Given the description of an element on the screen output the (x, y) to click on. 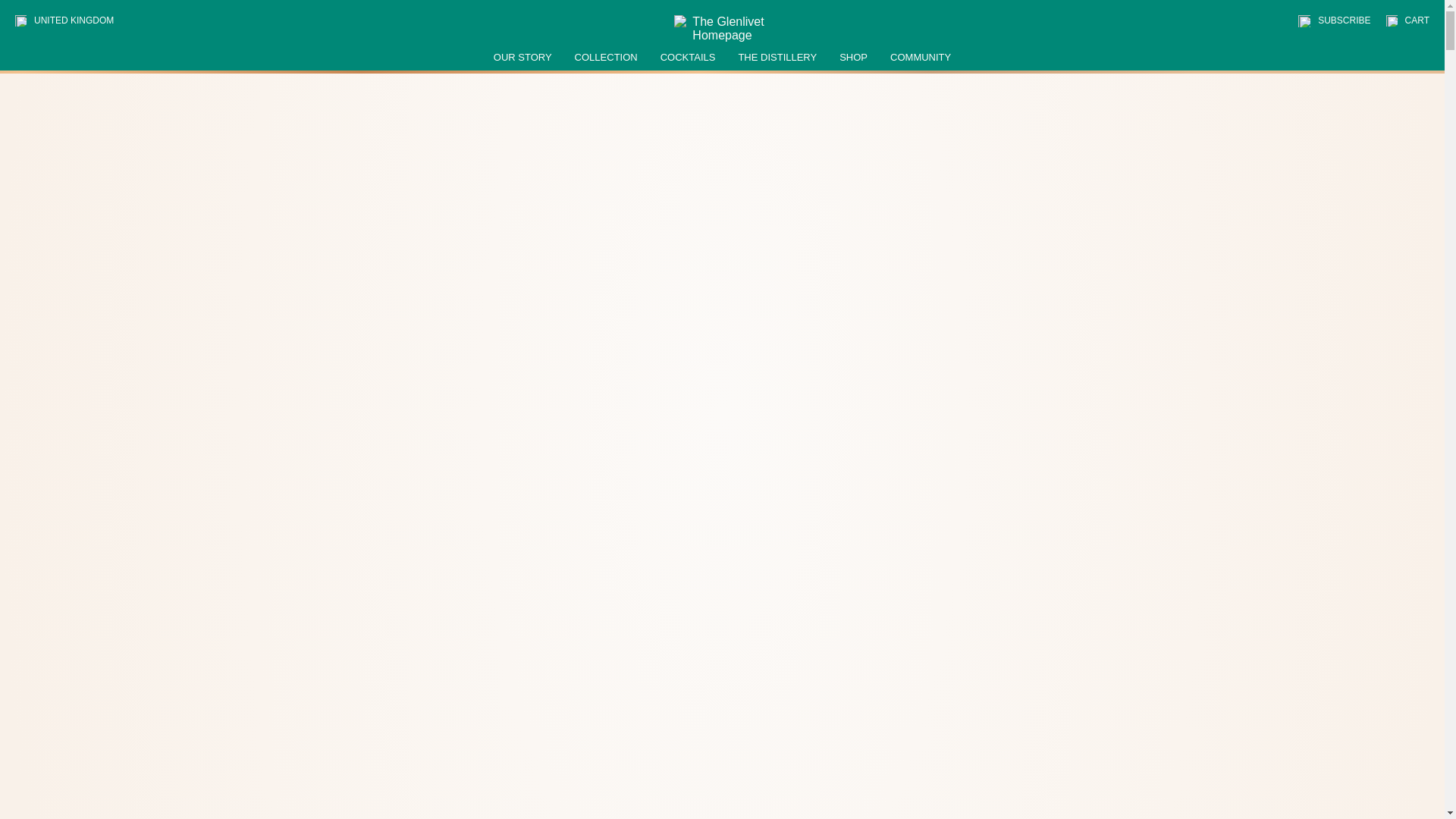
COLLECTION (606, 57)
THE DISTILLERY (777, 57)
SUBSCRIBE (1334, 21)
COCKTAILS (688, 57)
COMMUNITY (919, 57)
UNITED KINGDOM (70, 20)
OUR STORY (522, 57)
CART (1407, 20)
SHOP (853, 57)
